Given the description of an element on the screen output the (x, y) to click on. 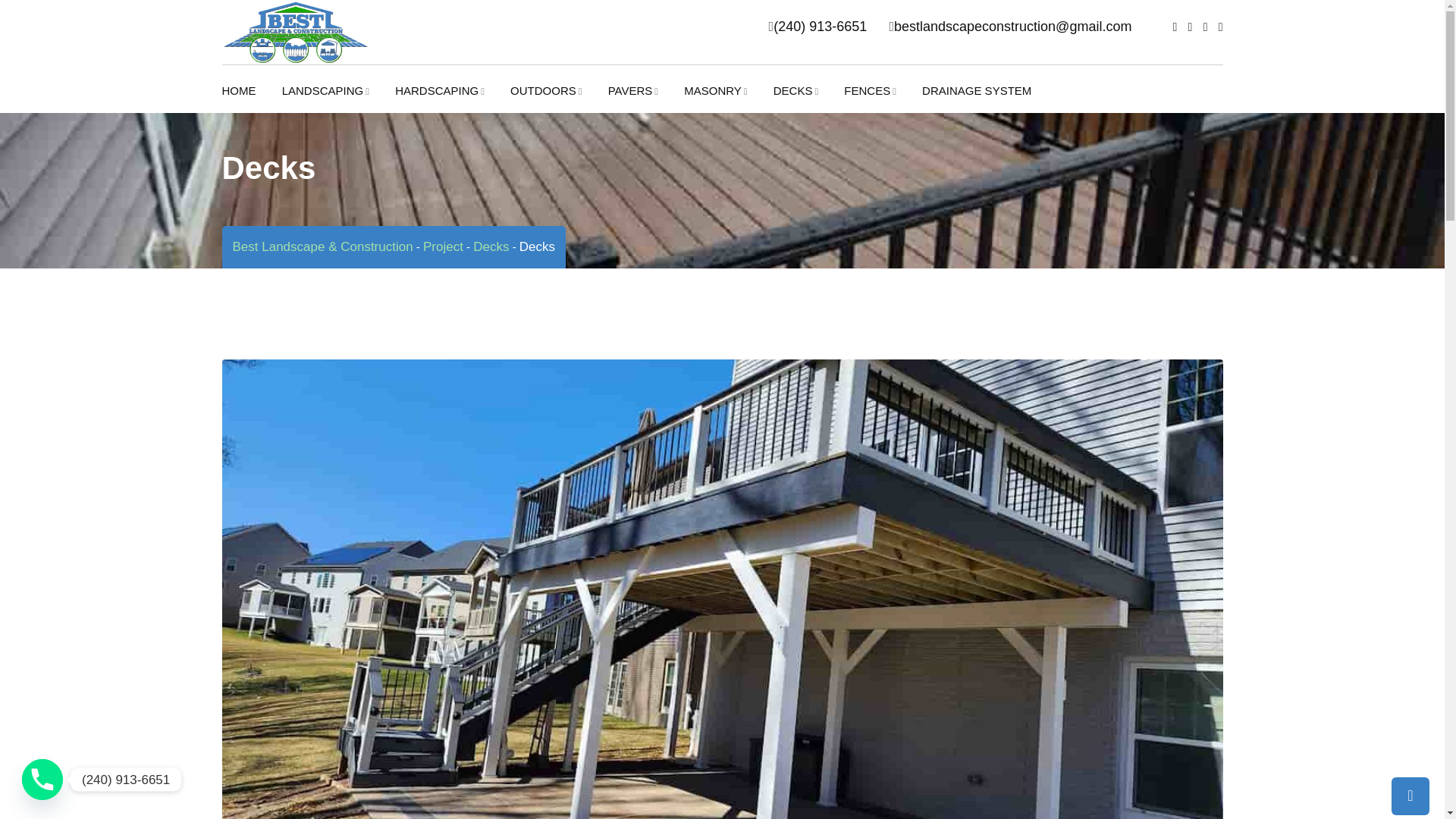
HARDSCAPING (450, 99)
LANDSCAPING (336, 99)
OUTDOORS (557, 99)
HOME (249, 98)
Go to Project. (443, 246)
Go to the Decks Project Category archives. (490, 246)
